Given the description of an element on the screen output the (x, y) to click on. 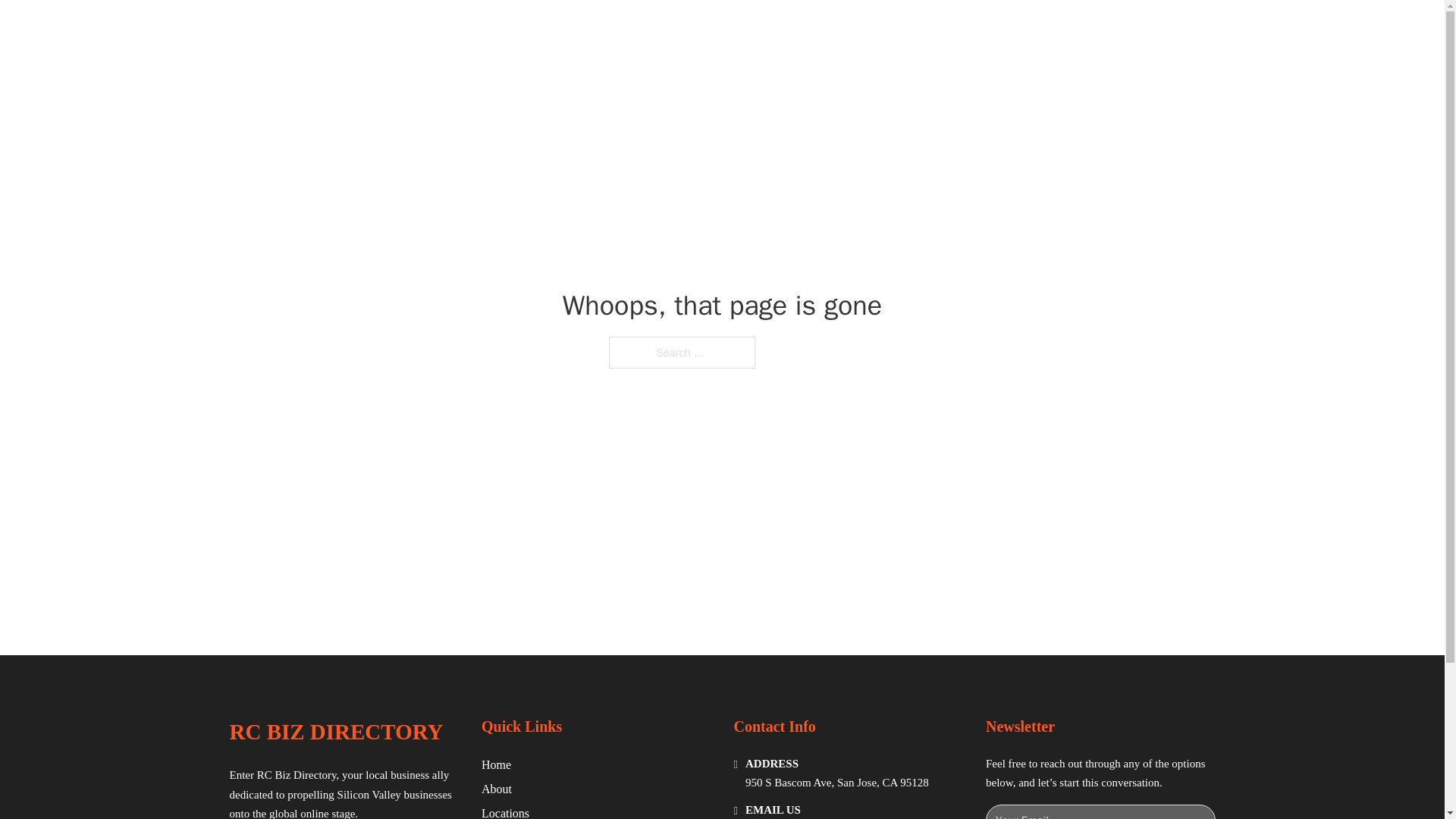
Home (496, 764)
RC BIZ DIRECTORY (335, 732)
LOCATIONS (990, 29)
Locations (505, 811)
About (496, 788)
RC BIZ DIRECTORY (404, 28)
HOME (919, 29)
